Given the description of an element on the screen output the (x, y) to click on. 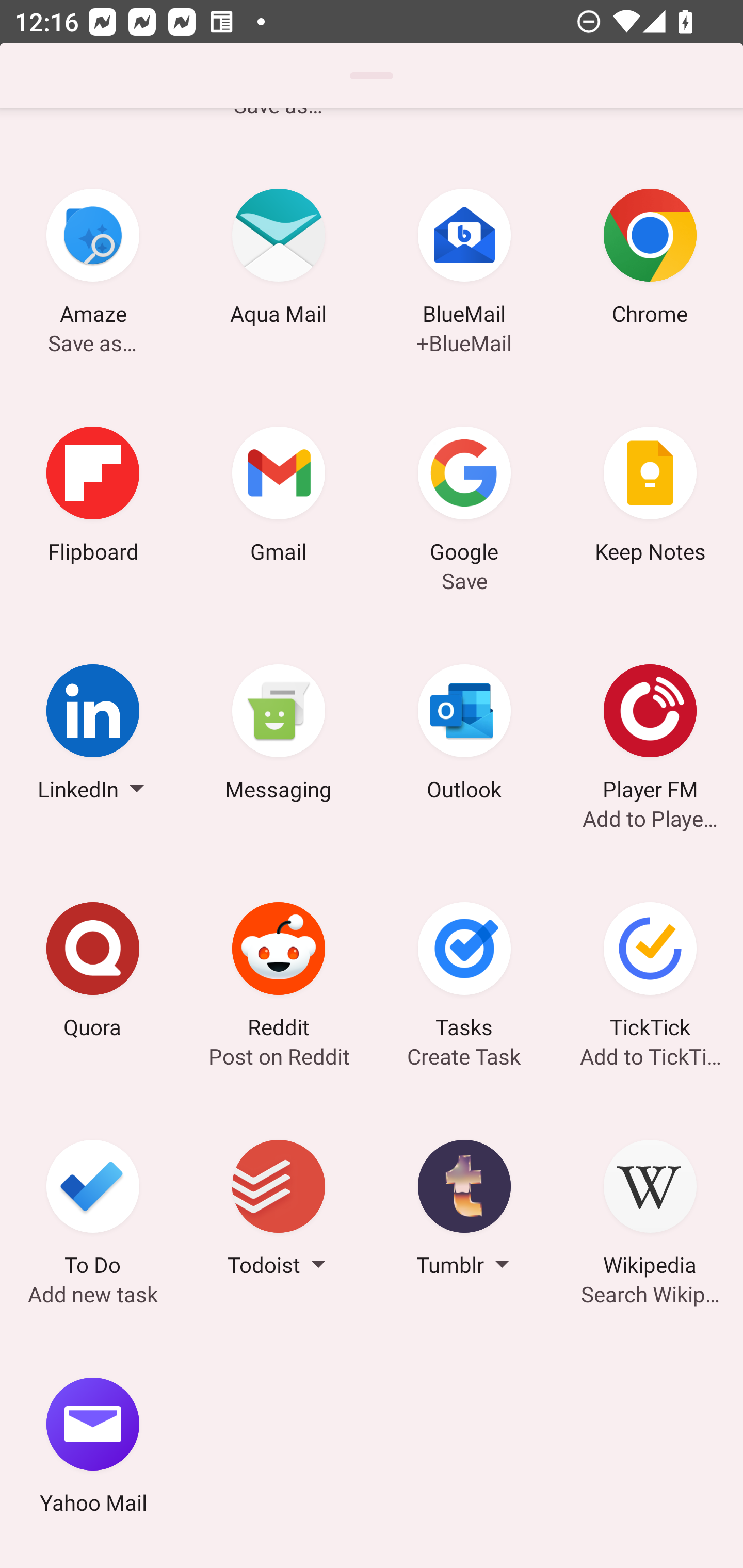
Amaze Save as… (92, 260)
Aqua Mail (278, 260)
BlueMail +BlueMail (464, 260)
Chrome (650, 260)
Flipboard (92, 497)
Gmail (278, 497)
Google Save (464, 497)
Keep Notes (650, 497)
LinkedIn (92, 735)
Messaging (278, 735)
Outlook (464, 735)
Player FM Add to Player FM (650, 735)
Quora (92, 973)
Reddit Post on Reddit (278, 973)
Tasks Create Task (464, 973)
TickTick Add to TickTick (650, 973)
To Do Add new task (92, 1210)
Todoist (278, 1210)
Tumblr (464, 1210)
Wikipedia Search Wikipedia (650, 1210)
Yahoo Mail (92, 1448)
